Given the description of an element on the screen output the (x, y) to click on. 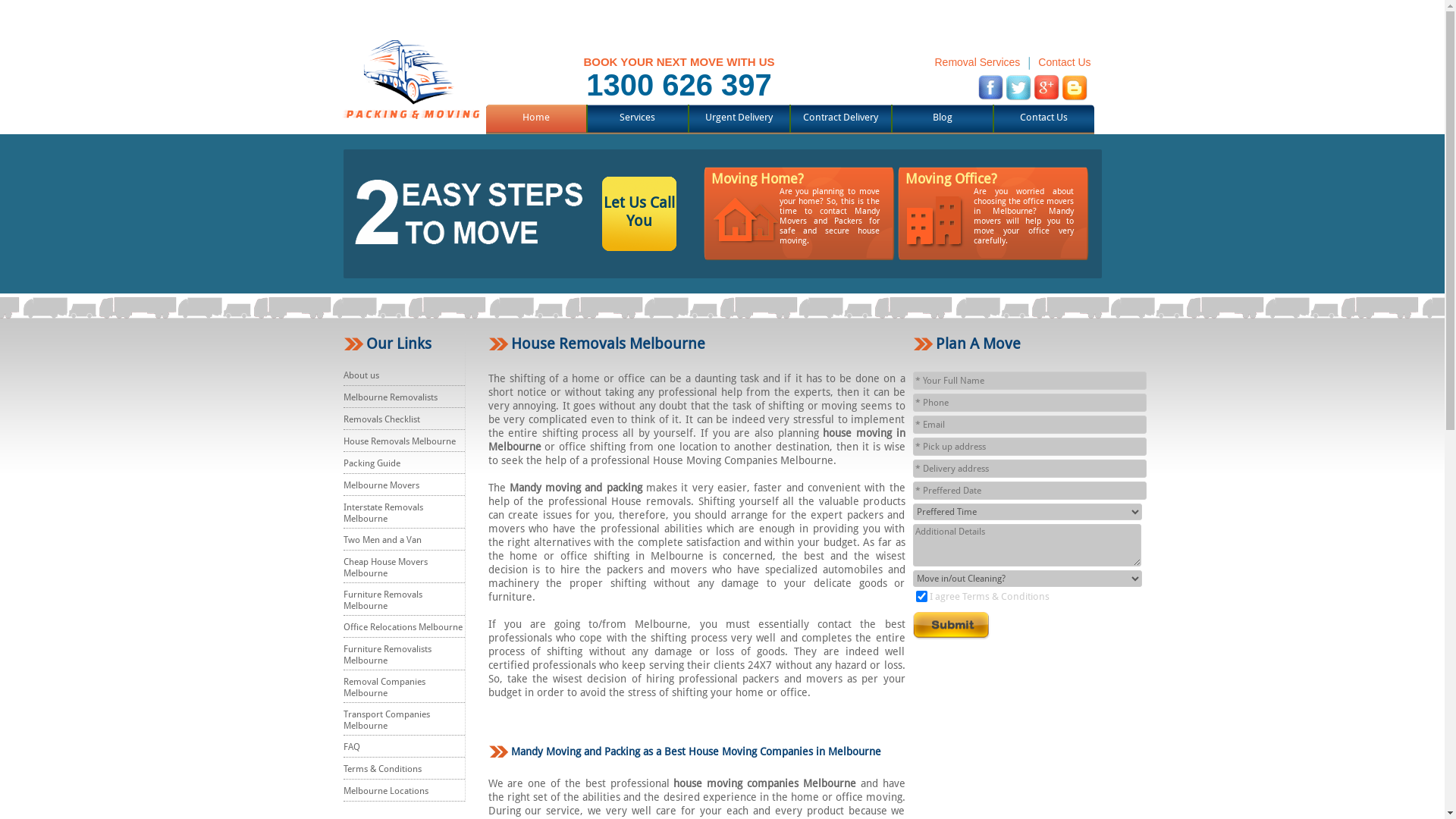
House Removals Melbourne Element type: text (398, 441)
Let Us Call You Element type: text (638, 231)
Packing Guide Element type: text (370, 463)
Melbourne Removalists Element type: text (389, 397)
Transport Companies Melbourne Element type: text (385, 720)
Contact Us Element type: text (1064, 62)
Interstate Removals Melbourne Element type: text (382, 513)
I agree Terms & Conditions Element type: text (989, 596)
About us Element type: text (360, 375)
Melbourne Movers Element type: text (380, 485)
Cheap House Movers Melbourne Element type: text (384, 567)
Contract Delivery Element type: text (840, 116)
Melbourne Locations Element type: text (384, 790)
Removals Checklist Element type: text (380, 419)
Removal Services Element type: text (976, 62)
FAQ Element type: text (350, 746)
Furniture Removalists Melbourne Element type: text (386, 654)
Removal Companies Melbourne Element type: text (383, 687)
Terms & Conditions Element type: text (381, 768)
1300 626 397 Element type: text (678, 84)
Blog Element type: text (942, 116)
Contact Us Element type: text (1043, 116)
Urgent Delivery Element type: text (738, 116)
Office Relocations Melbourne Element type: text (401, 626)
Services Element type: text (637, 116)
Two Men and a Van Element type: text (381, 539)
Furniture Removals Melbourne Element type: text (381, 600)
Home Element type: text (535, 116)
